Given the description of an element on the screen output the (x, y) to click on. 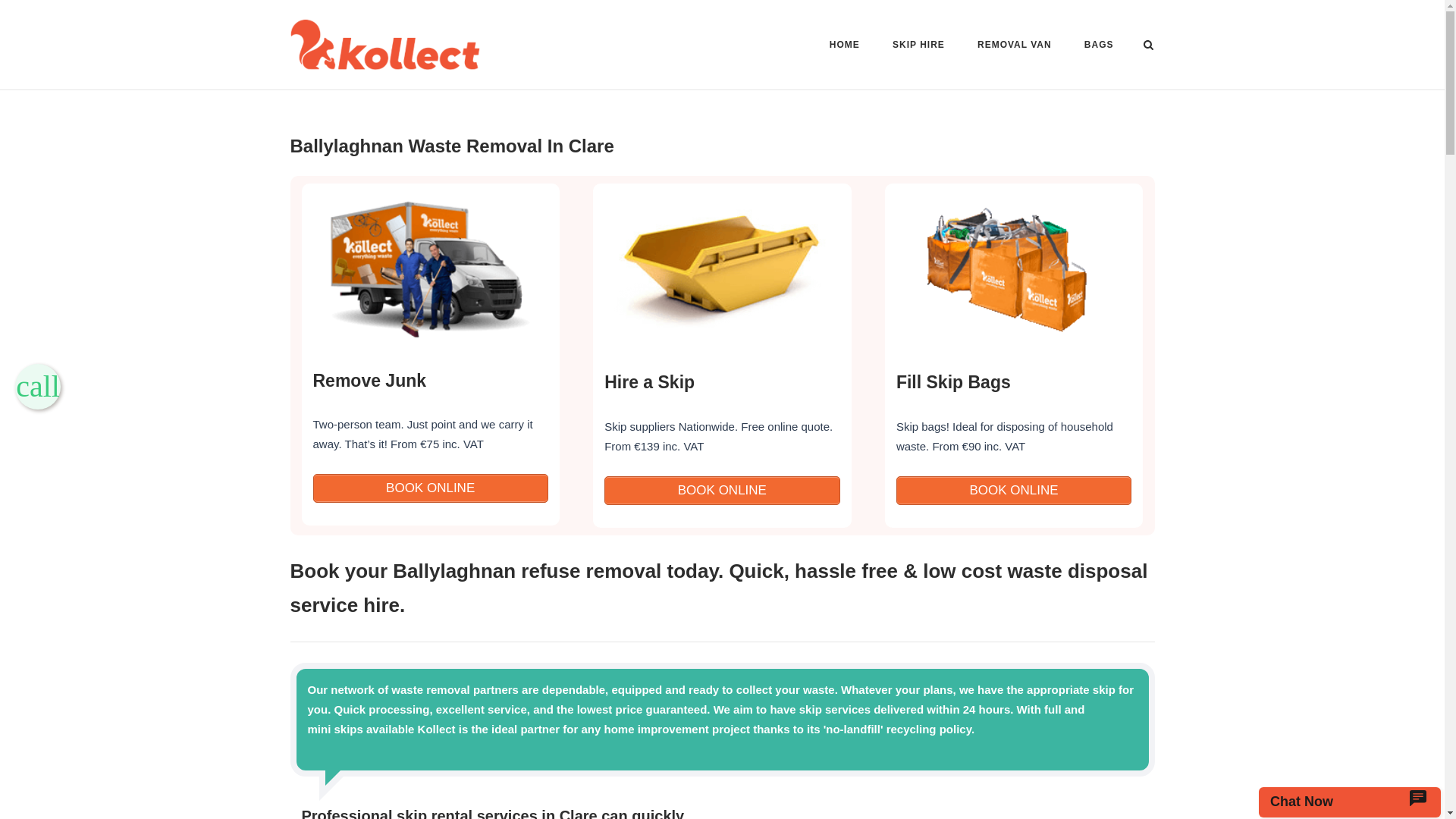
BOOK ONLINE (1013, 490)
BOOK ONLINE (430, 488)
Junk Removal Ireland (430, 380)
BAGS (1098, 47)
SKIP HIRE (918, 47)
BOOK ONLINE (722, 490)
BOOK ONLINE (1013, 490)
BOOK ONLINE (722, 490)
BOOK ONLINE (430, 488)
REMOVAL VAN (1013, 47)
